Given the description of an element on the screen output the (x, y) to click on. 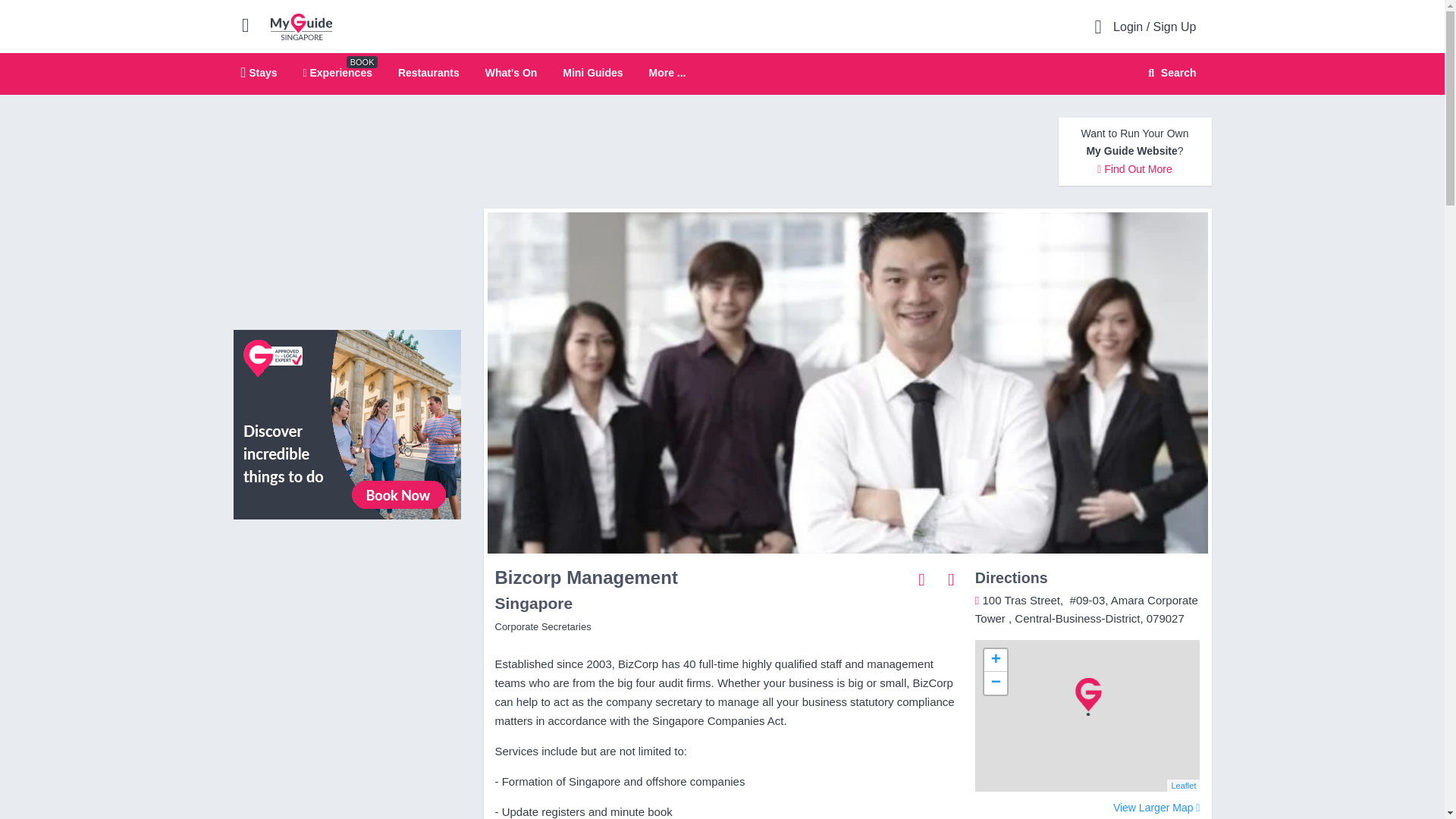
View All Experiences (346, 423)
What's On (510, 72)
My Guide Singapore (300, 25)
GetYourGuide Widget (346, 599)
More ... (666, 72)
Search (1169, 72)
Zoom out (995, 682)
Larger Map for Company: Bizcorp Management Singapore (1156, 808)
Experiences (337, 72)
Restaurants (428, 72)
Zoom in (995, 660)
Stays (259, 72)
A JS library for interactive maps (1182, 785)
